Given the description of an element on the screen output the (x, y) to click on. 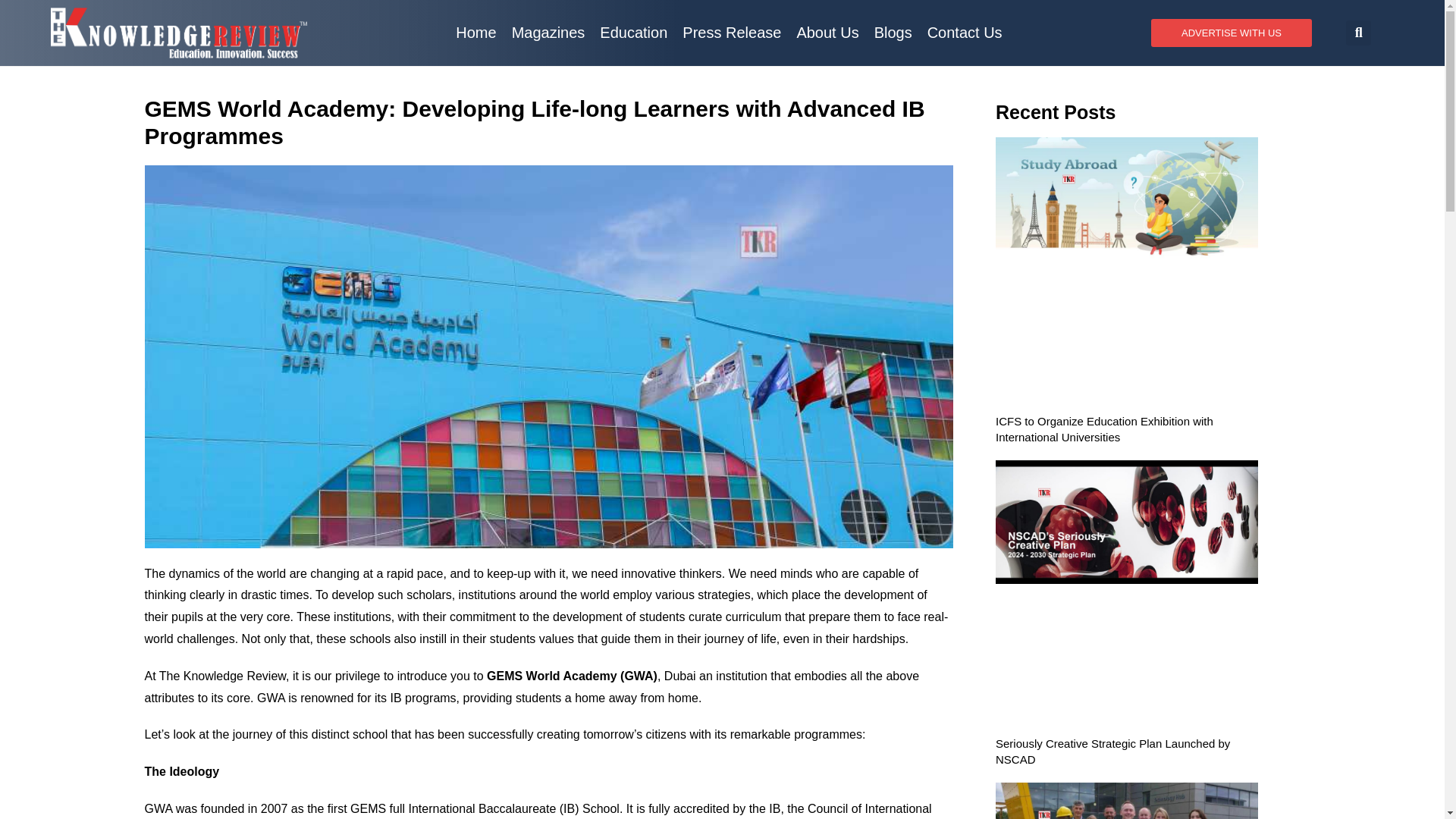
Education (633, 32)
About Us (827, 32)
Press Release (732, 32)
Home (475, 32)
Contact Us (965, 32)
Blogs (893, 32)
Magazines (547, 32)
ADVERTISE WITH US (1232, 32)
